Given the description of an element on the screen output the (x, y) to click on. 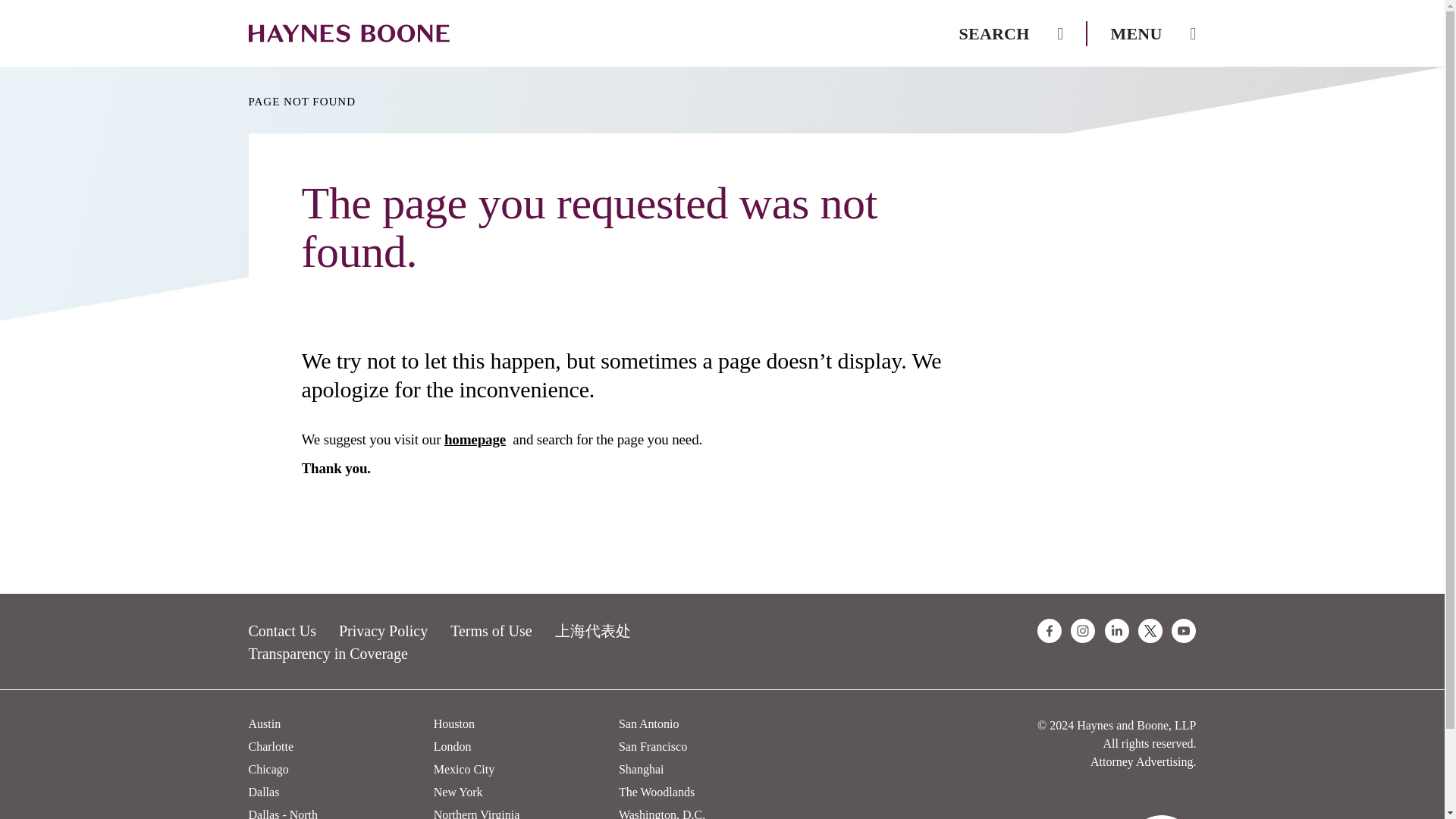
Austin (264, 723)
Combined Shape (1160, 816)
Dallas - North (283, 813)
The Woodlands (656, 791)
San Francisco (652, 746)
Search (1011, 33)
Menu (1152, 33)
Haynes Boone (348, 33)
San Antonio (648, 723)
Shanghai (640, 768)
Charlotte (271, 746)
Houston (453, 723)
London (452, 746)
Mexico City (464, 768)
SEARCH (1011, 33)
